Given the description of an element on the screen output the (x, y) to click on. 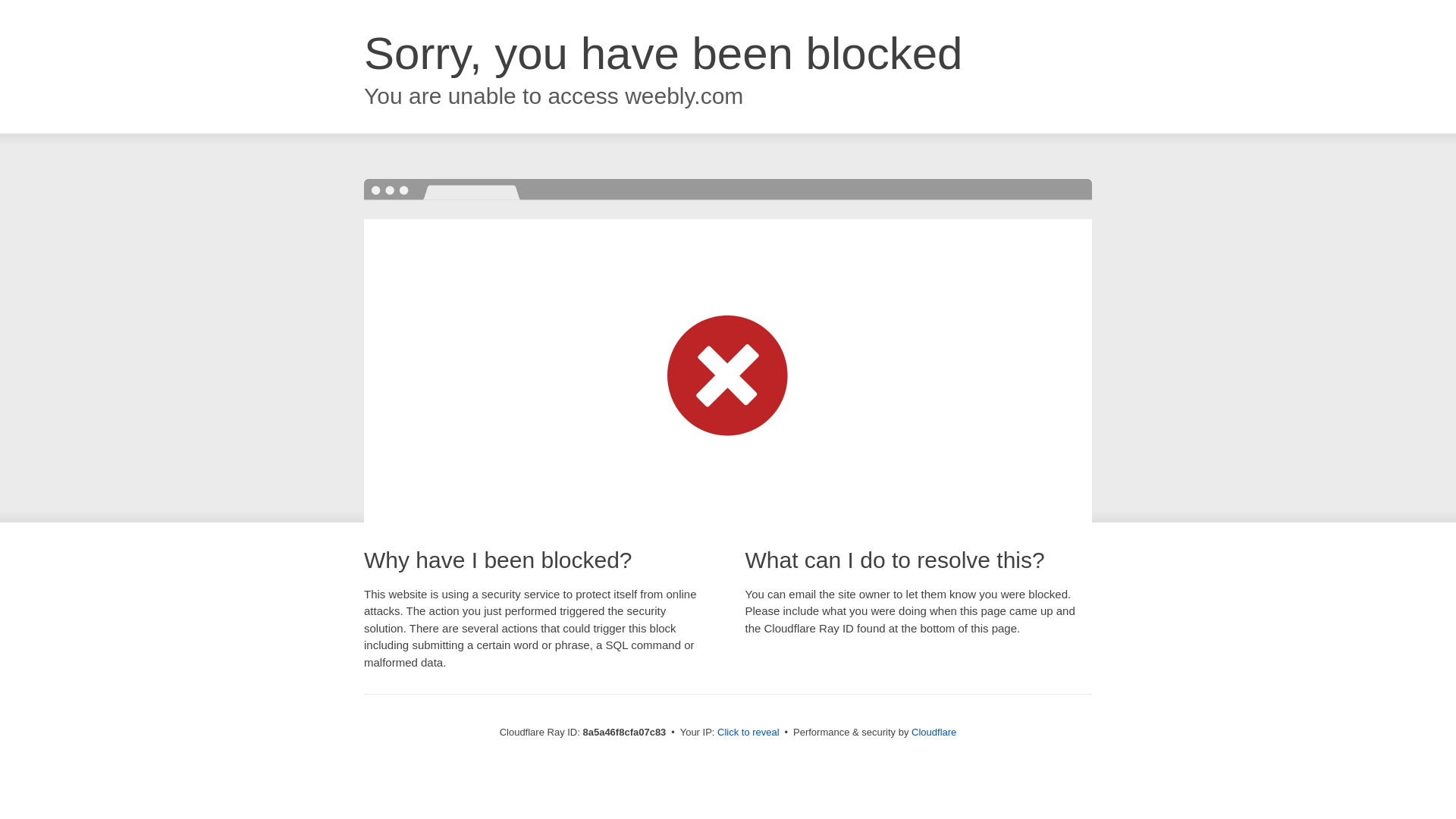
Cloudflare (933, 731)
Click to reveal (747, 732)
